Given the description of an element on the screen output the (x, y) to click on. 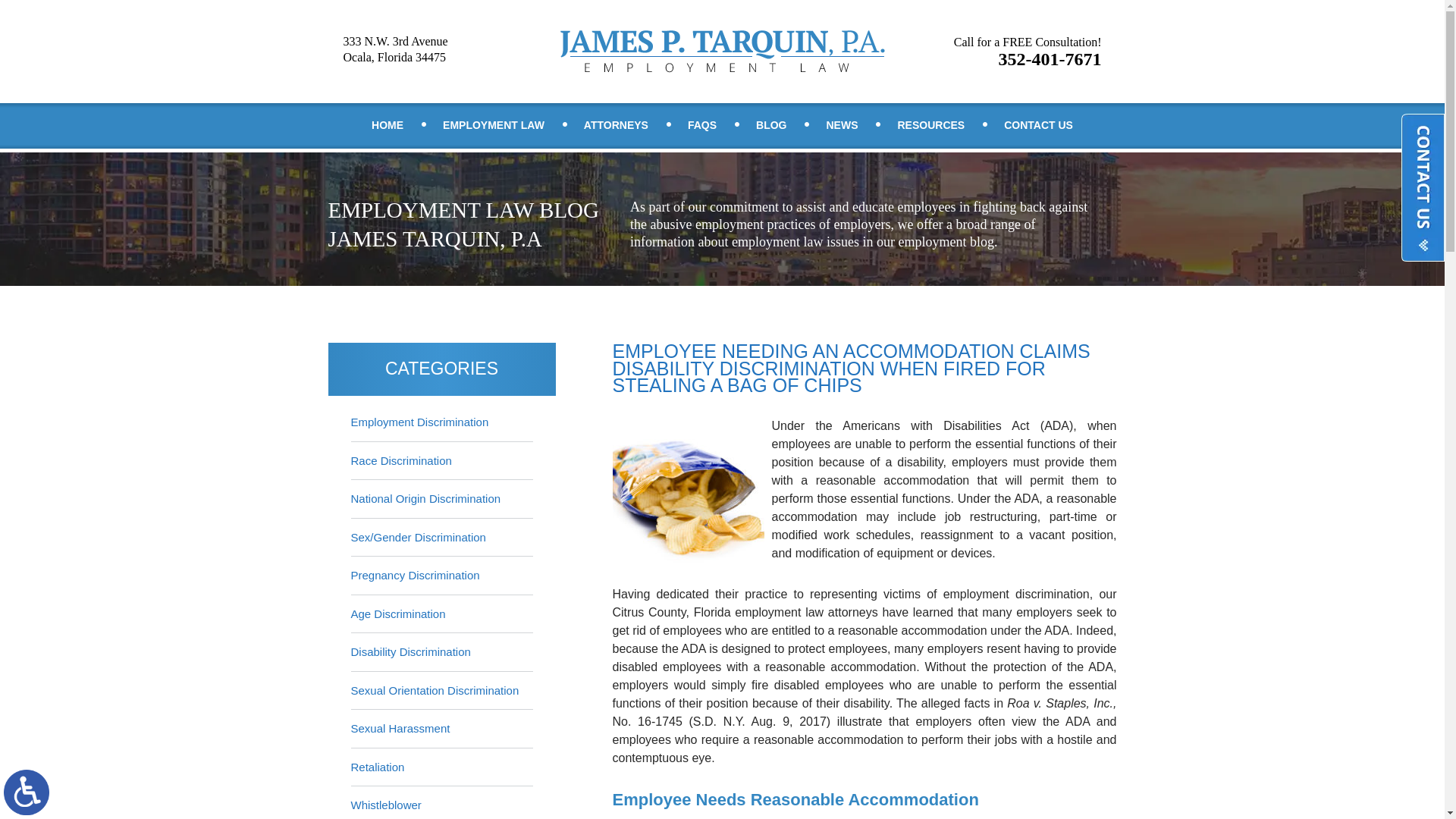
BLOG (771, 125)
Employment Discrimination (441, 422)
ATTORNEYS (616, 125)
potato chips in bag (688, 496)
CONTACT US (1038, 125)
EMPLOYMENT LAW (493, 125)
NEWS (841, 125)
Switch to ADA Accessible Theme (26, 791)
HOME (1027, 52)
